Given the description of an element on the screen output the (x, y) to click on. 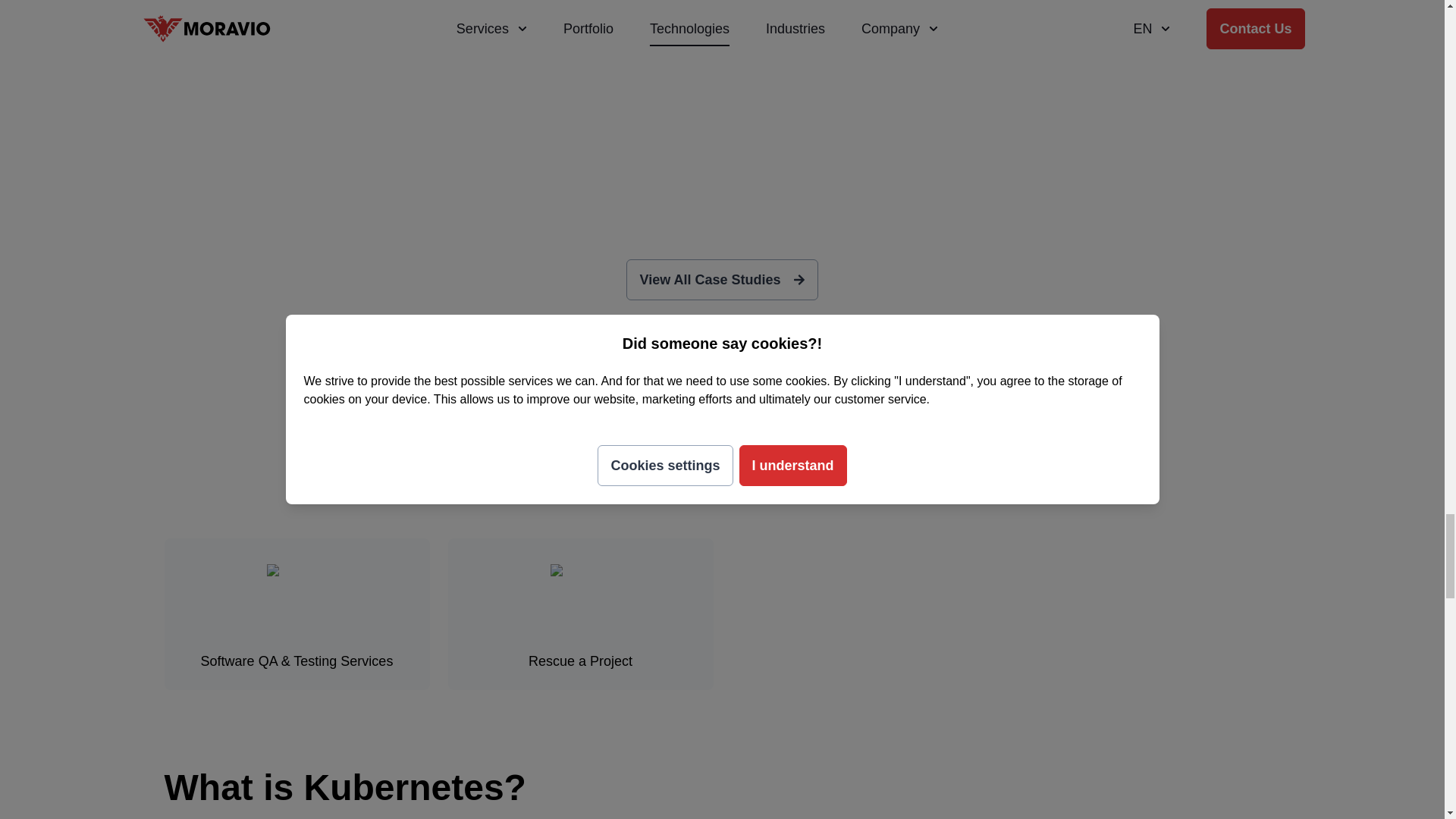
Read more of Strapi Powered Node.js Backend (1048, 43)
